Given the description of an element on the screen output the (x, y) to click on. 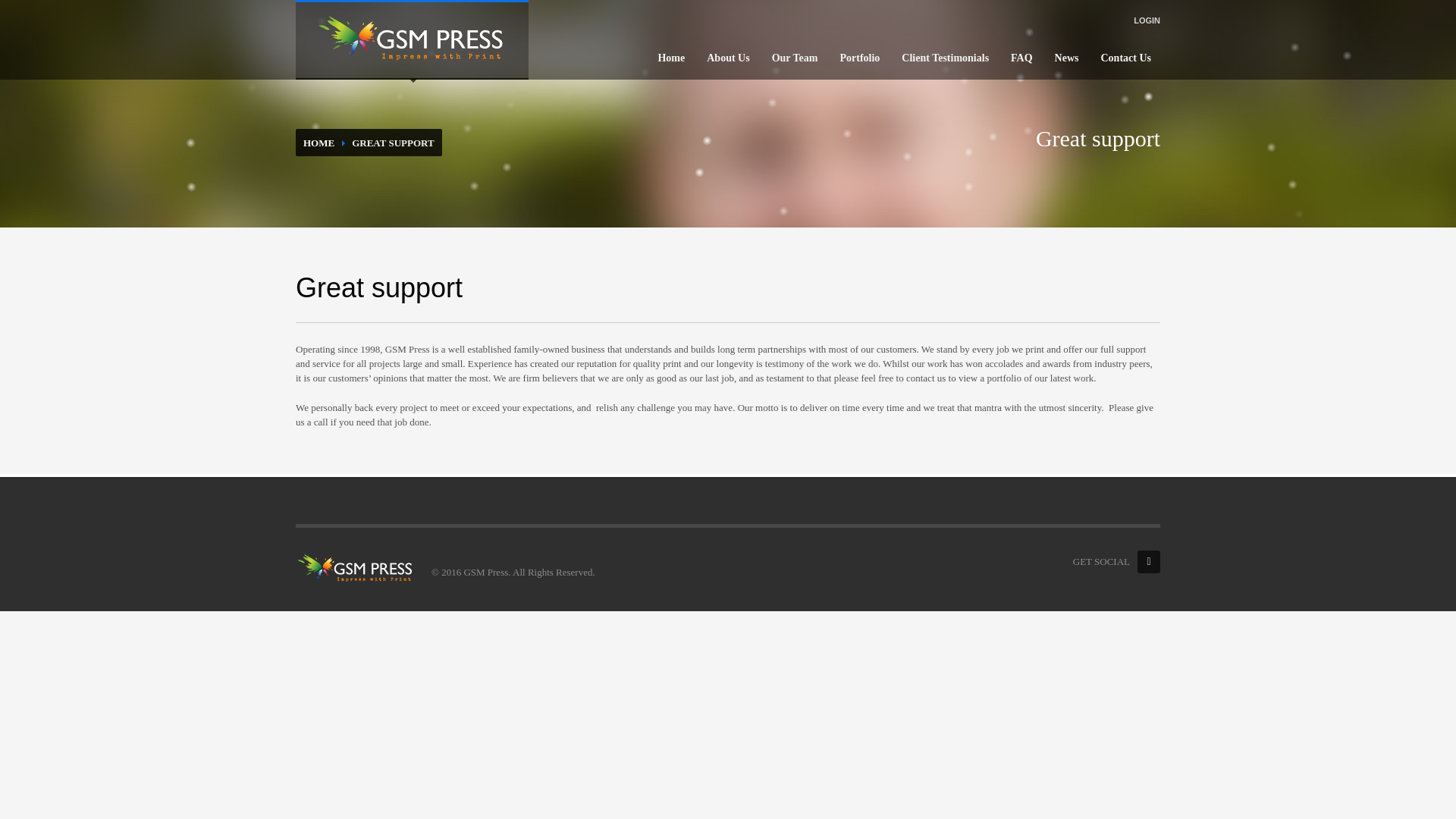
LOGIN (1147, 20)
linkedin (1148, 561)
News (1066, 57)
Home (670, 57)
Client Testimonials (944, 57)
Our Team (794, 57)
Portfolio (858, 57)
Impress With Print (411, 39)
FAQ (1021, 57)
HOME (318, 142)
